Given the description of an element on the screen output the (x, y) to click on. 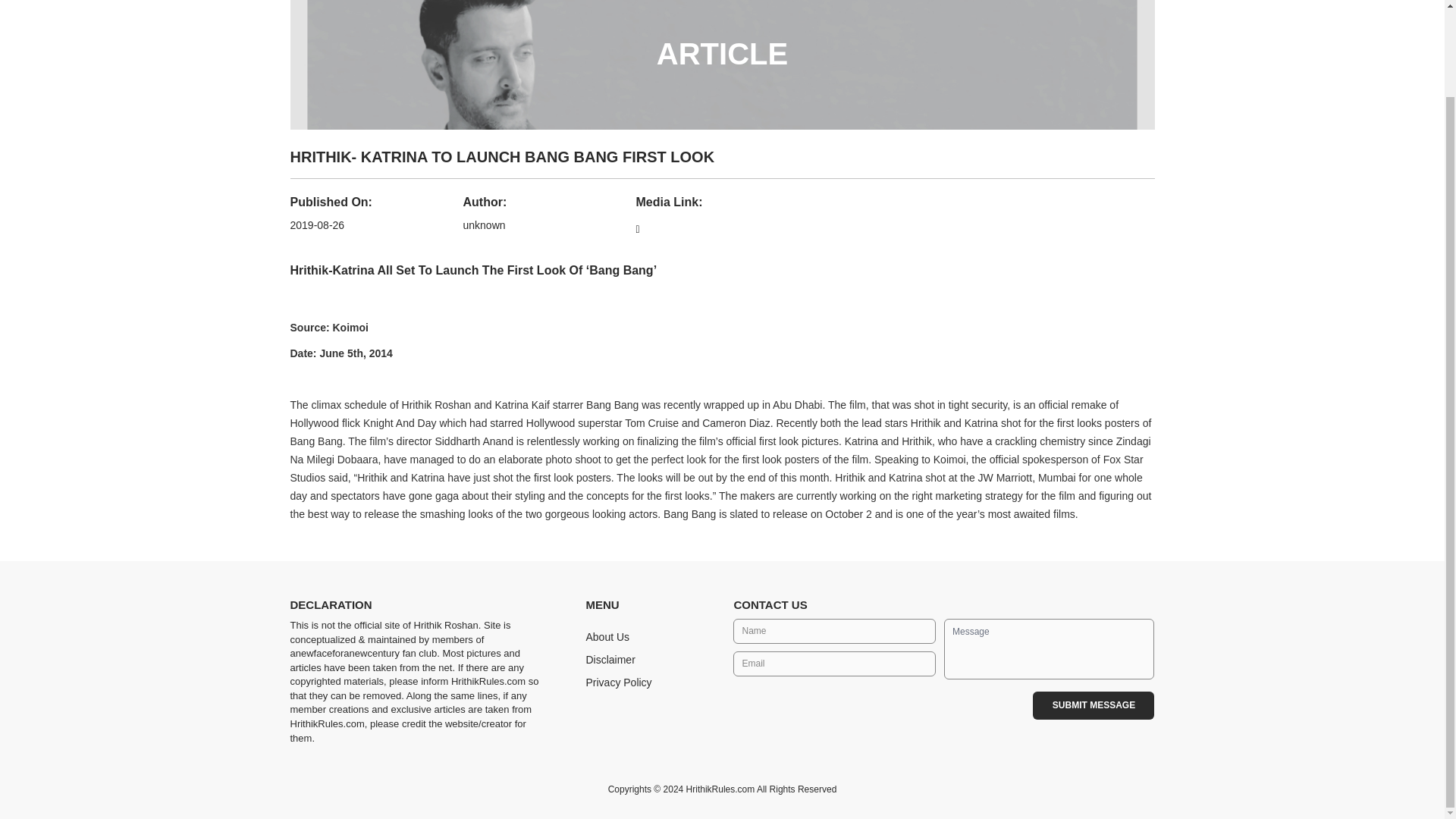
About Us (606, 636)
SUBMIT MESSAGE (1093, 705)
Privacy Policy (617, 682)
Disclaimer (609, 659)
